Given the description of an element on the screen output the (x, y) to click on. 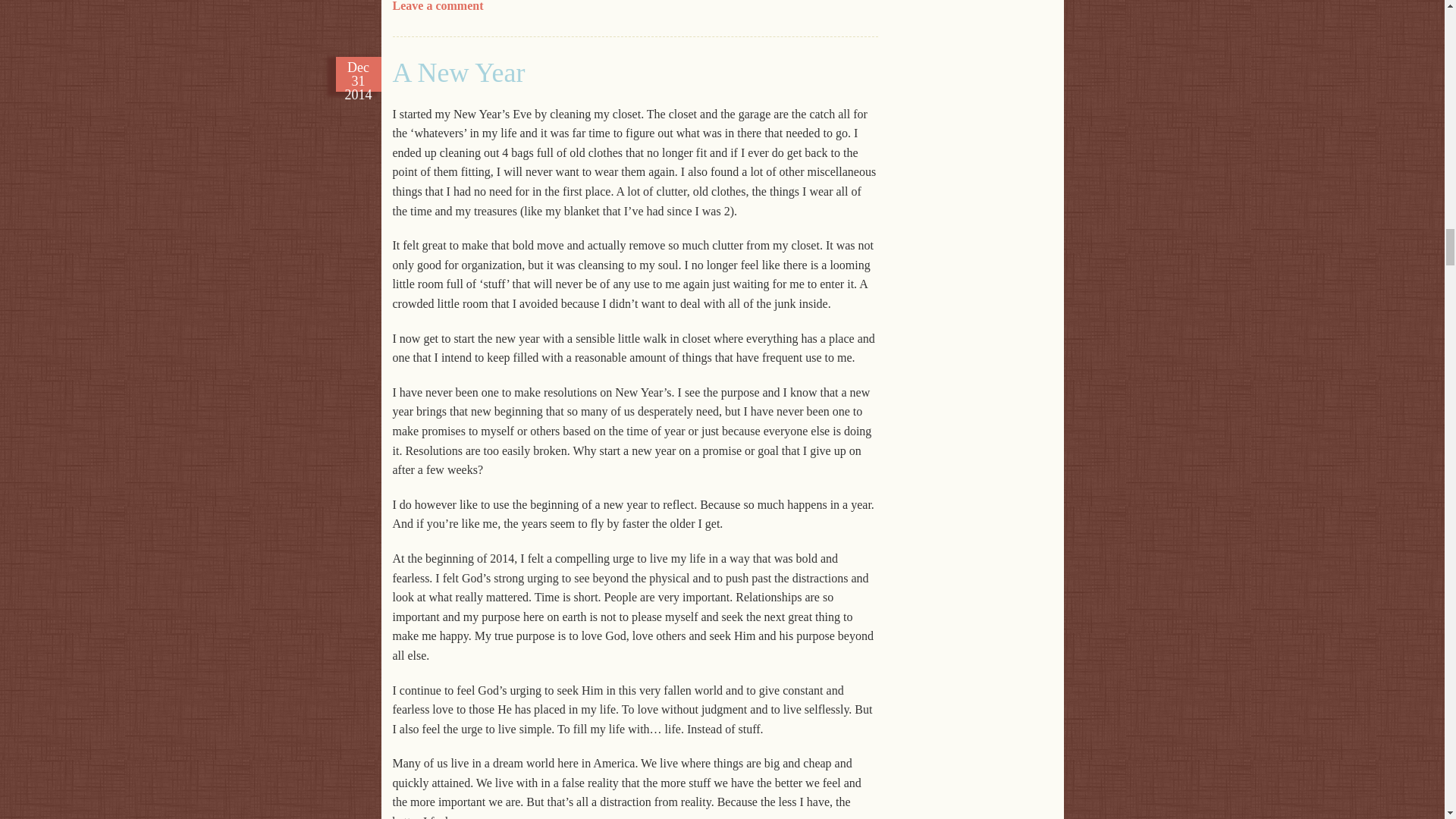
Permalink to A New Year (459, 72)
Permanent Link to A New Year (358, 73)
A New Year (459, 72)
Dec 31 2014 (358, 73)
Leave a comment (438, 6)
